Given the description of an element on the screen output the (x, y) to click on. 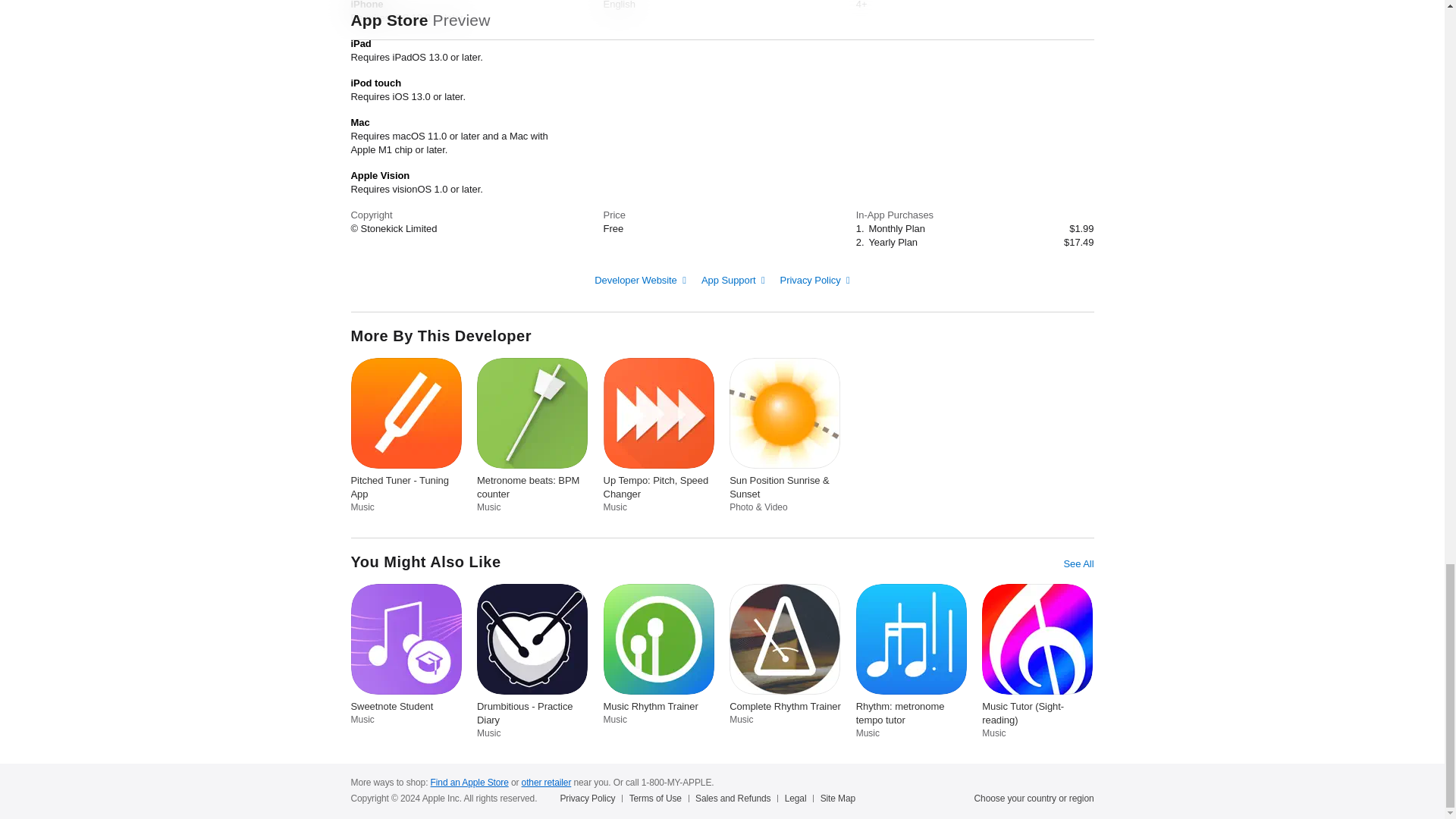
Choose your country or region (1034, 798)
